Given the description of an element on the screen output the (x, y) to click on. 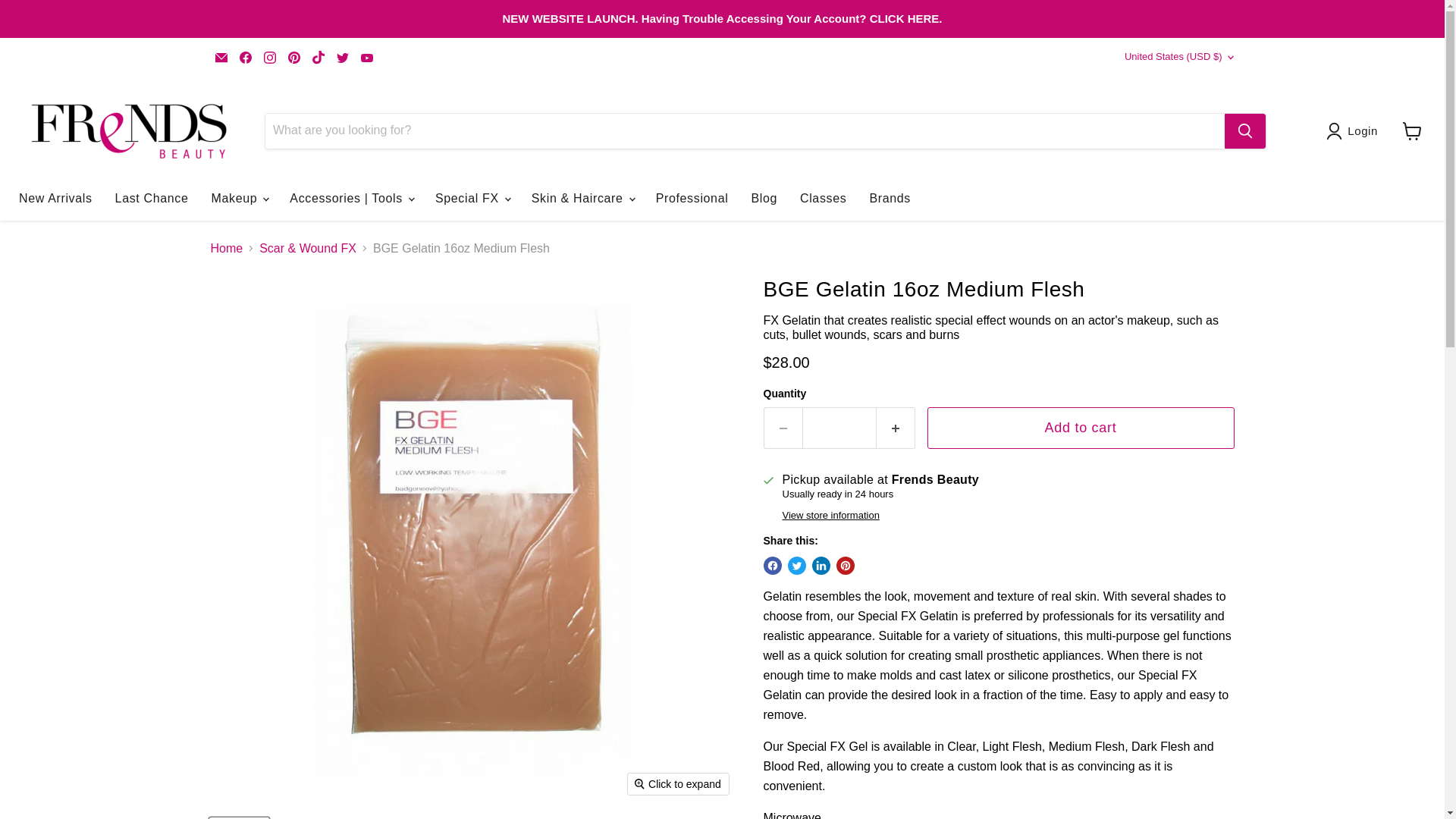
TikTok (318, 56)
Instagram (270, 56)
Find us on Instagram (270, 56)
Email Frends Beauty (221, 56)
Find us on YouTube (366, 56)
YouTube (366, 56)
Find us on Facebook (245, 56)
Find us on Twitter (342, 56)
Find us on TikTok (318, 56)
Twitter (342, 56)
Email (221, 56)
Find us on Pinterest (293, 56)
Pinterest (293, 56)
Facebook (245, 56)
